Given the description of an element on the screen output the (x, y) to click on. 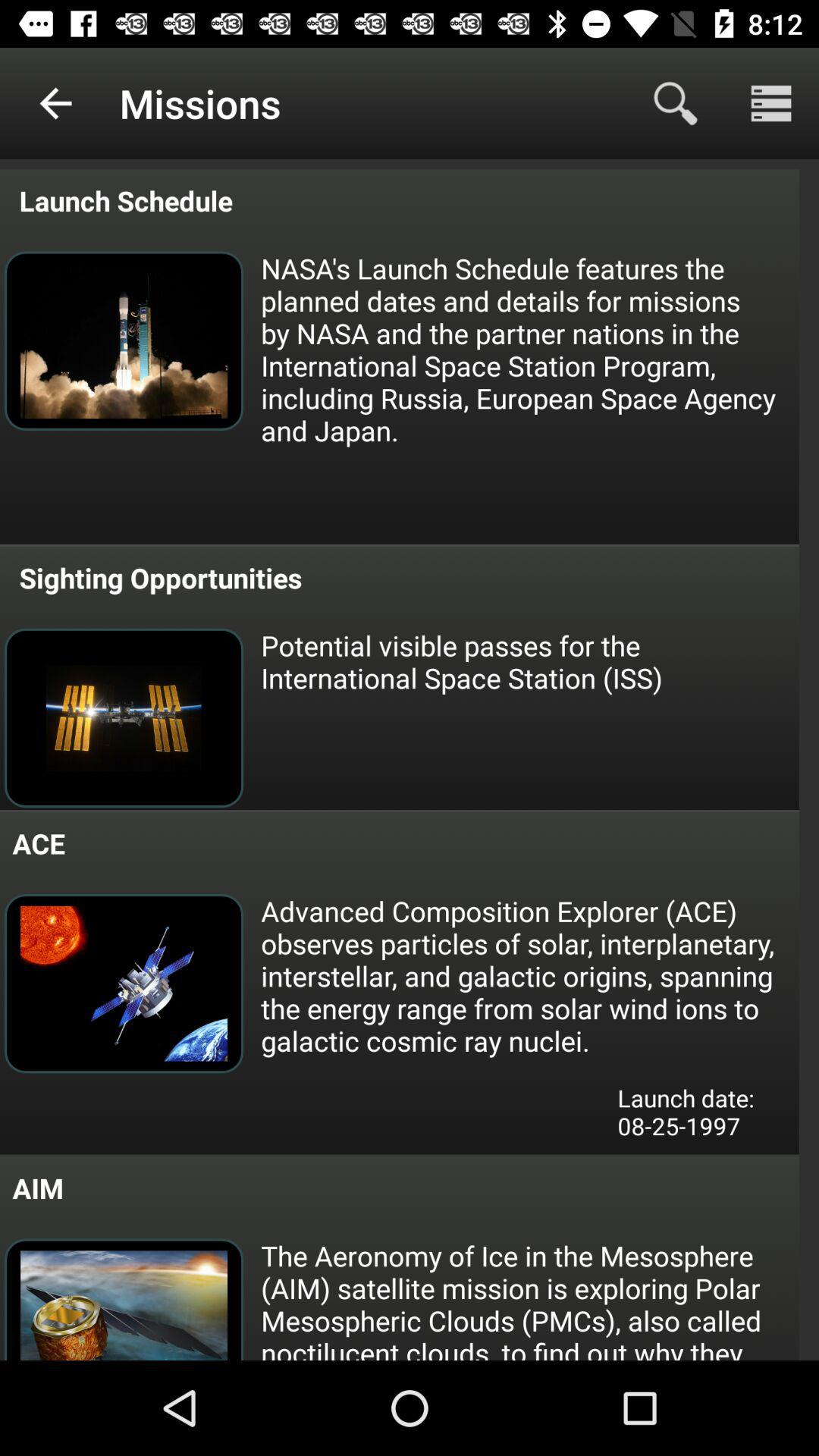
click launch date 08 item (696, 1116)
